Given the description of an element on the screen output the (x, y) to click on. 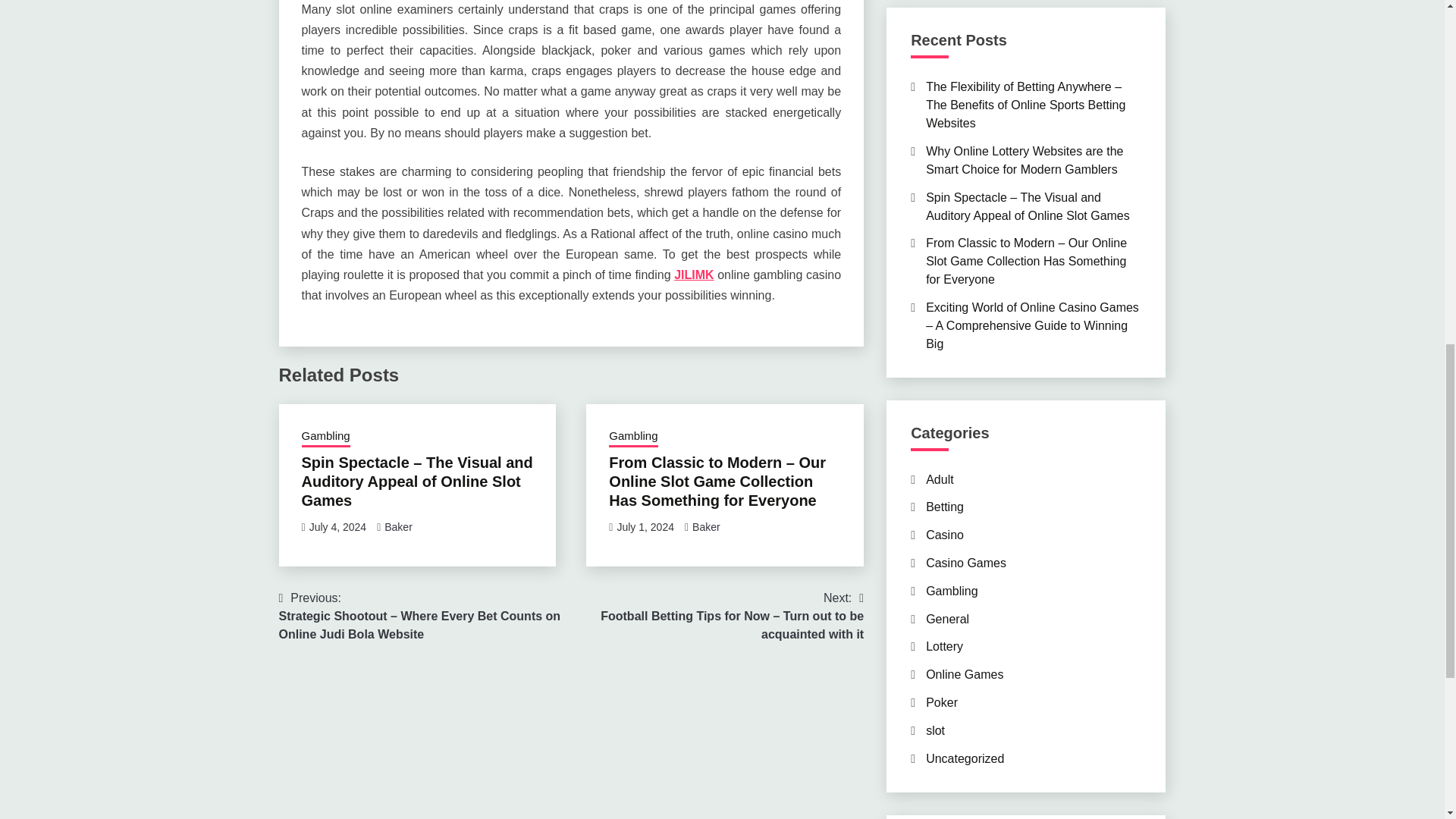
Casino (944, 534)
Gambling (633, 437)
Baker (706, 526)
July 1, 2024 (644, 526)
Gambling (951, 590)
Casino Games (966, 562)
July 4, 2024 (337, 526)
JILIMK (693, 274)
Baker (398, 526)
Gambling (325, 437)
Betting (944, 506)
Adult (939, 479)
